Given the description of an element on the screen output the (x, y) to click on. 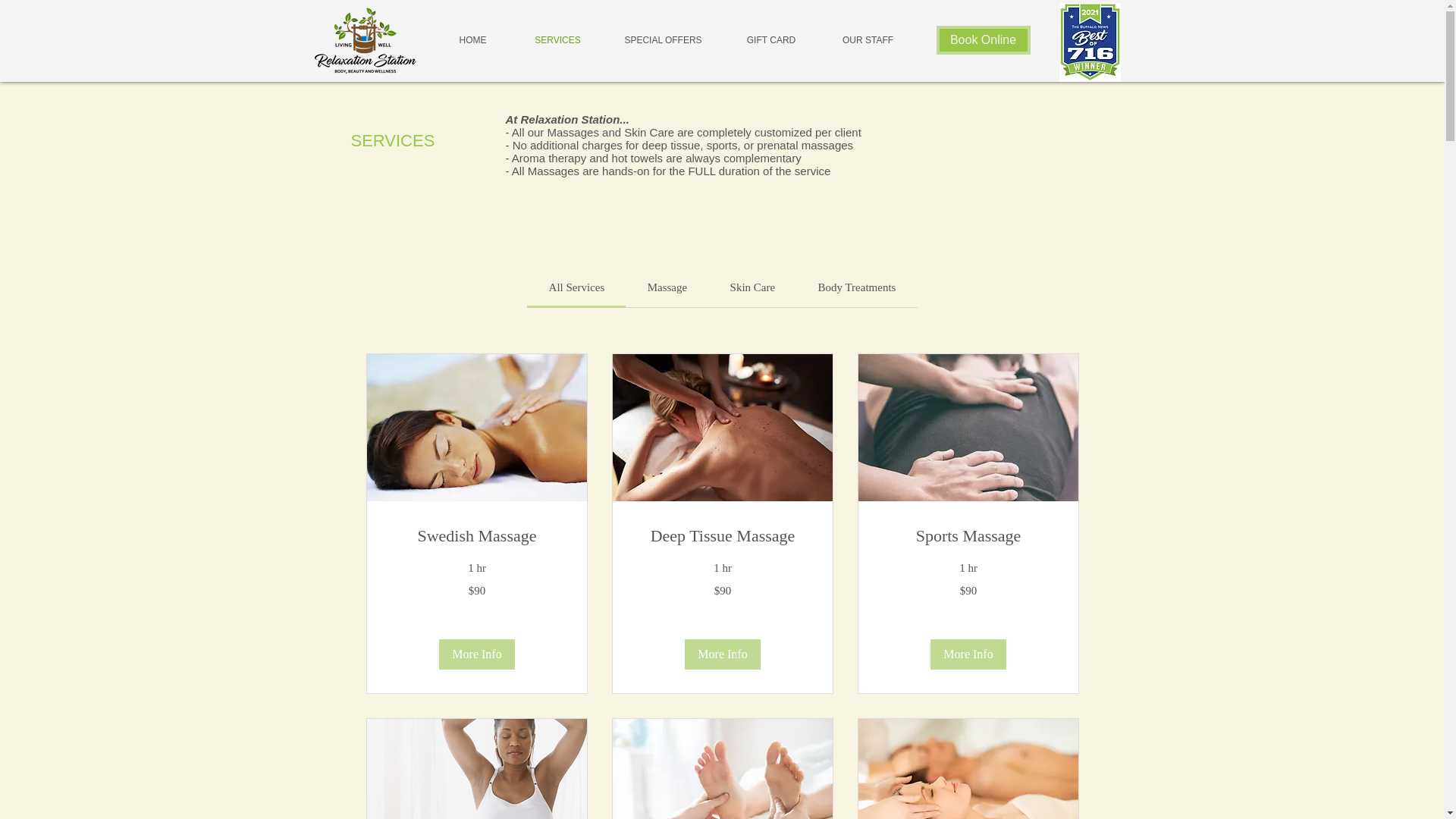
More Info (475, 654)
Sports Massage (967, 535)
SPECIAL OFFERS (663, 40)
More Info (968, 654)
OUR STAFF (866, 40)
HOME (472, 40)
SERVICES (558, 40)
GIFT CARD (771, 40)
More Info (722, 654)
Book Online (982, 39)
